Given the description of an element on the screen output the (x, y) to click on. 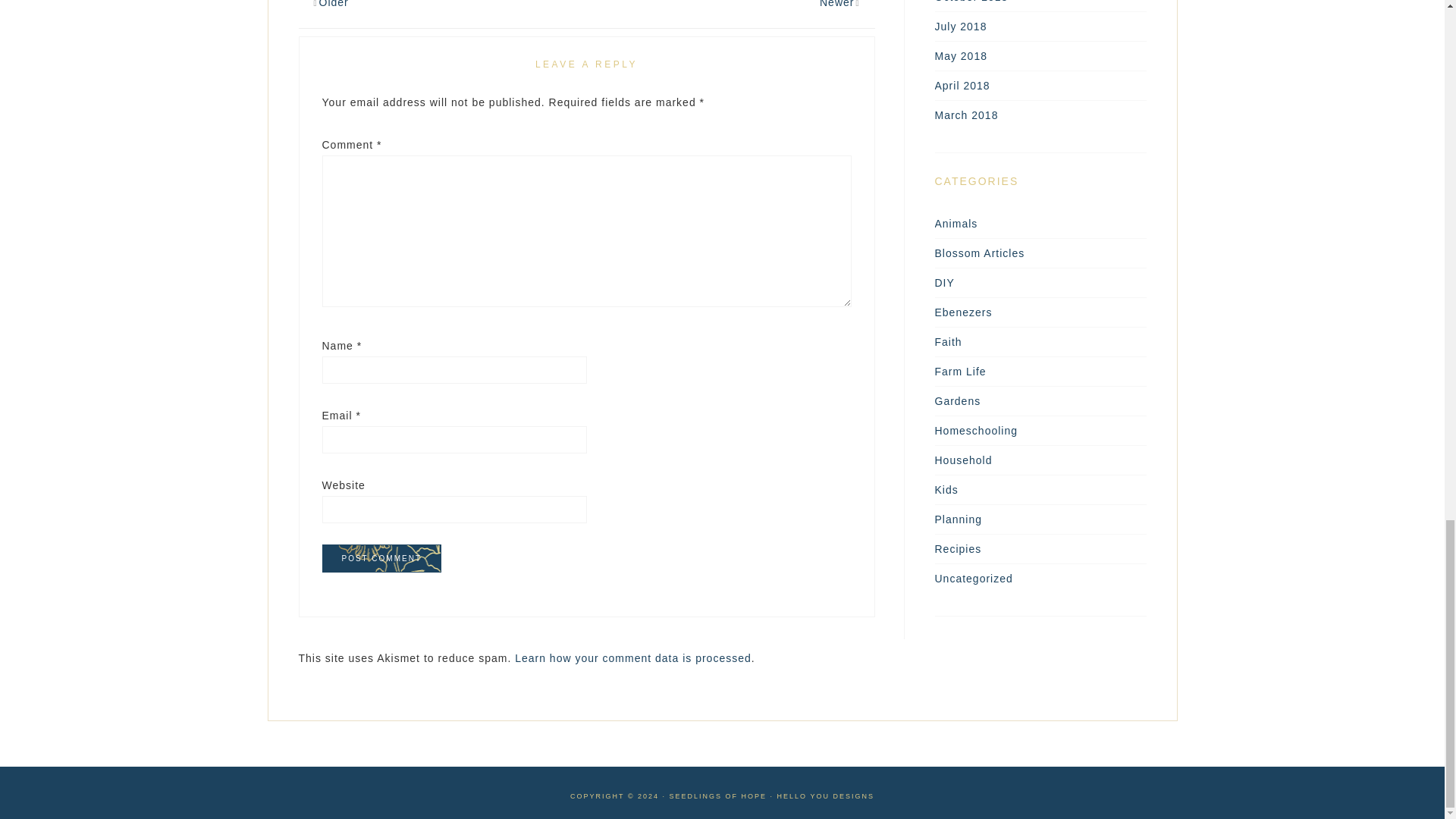
Post Comment (381, 558)
Learn how your comment data is processed (633, 657)
Post Comment (381, 558)
Newer (836, 4)
Older (333, 4)
